Given the description of an element on the screen output the (x, y) to click on. 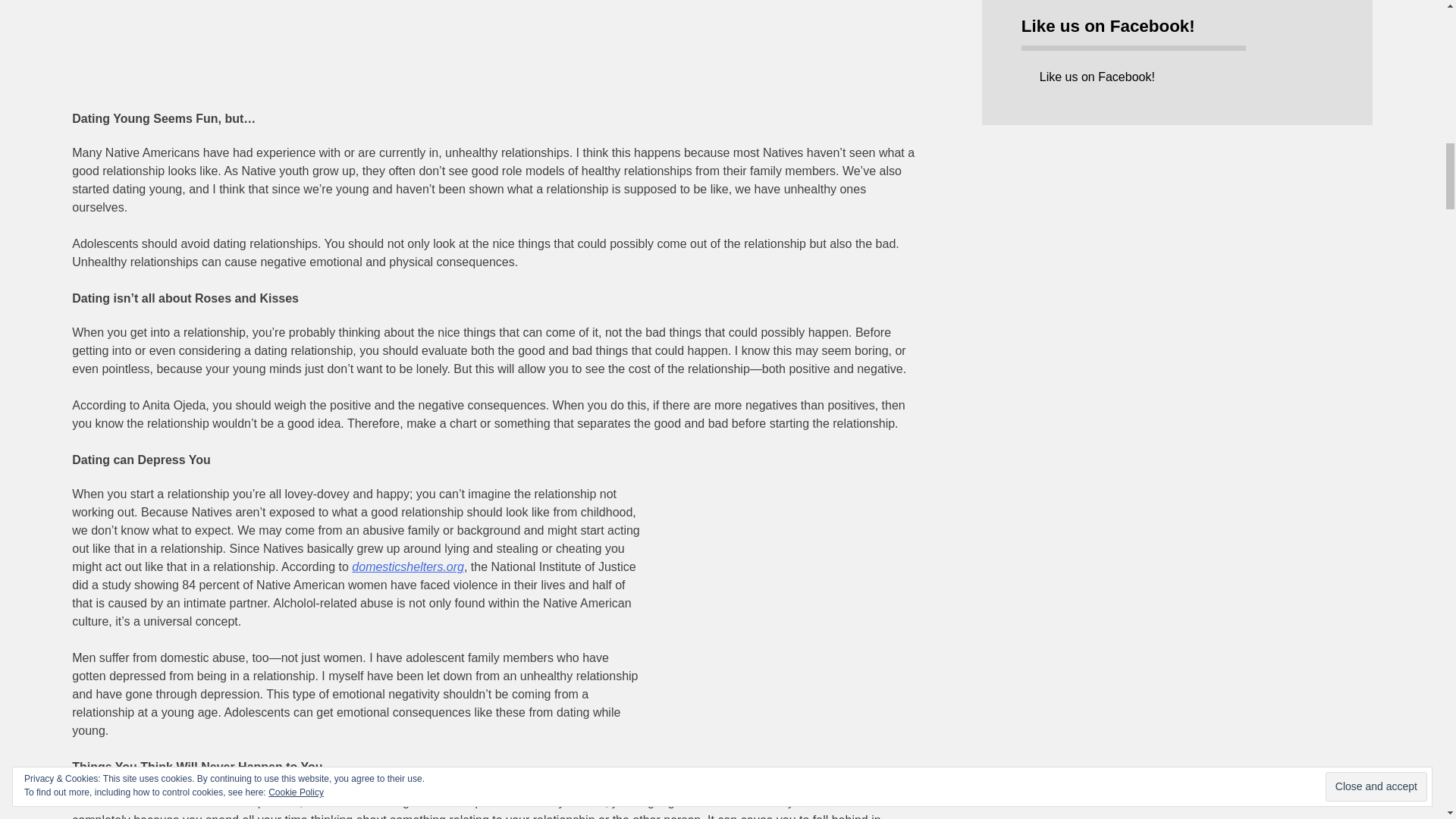
domesticshelters.org (408, 566)
